Given the description of an element on the screen output the (x, y) to click on. 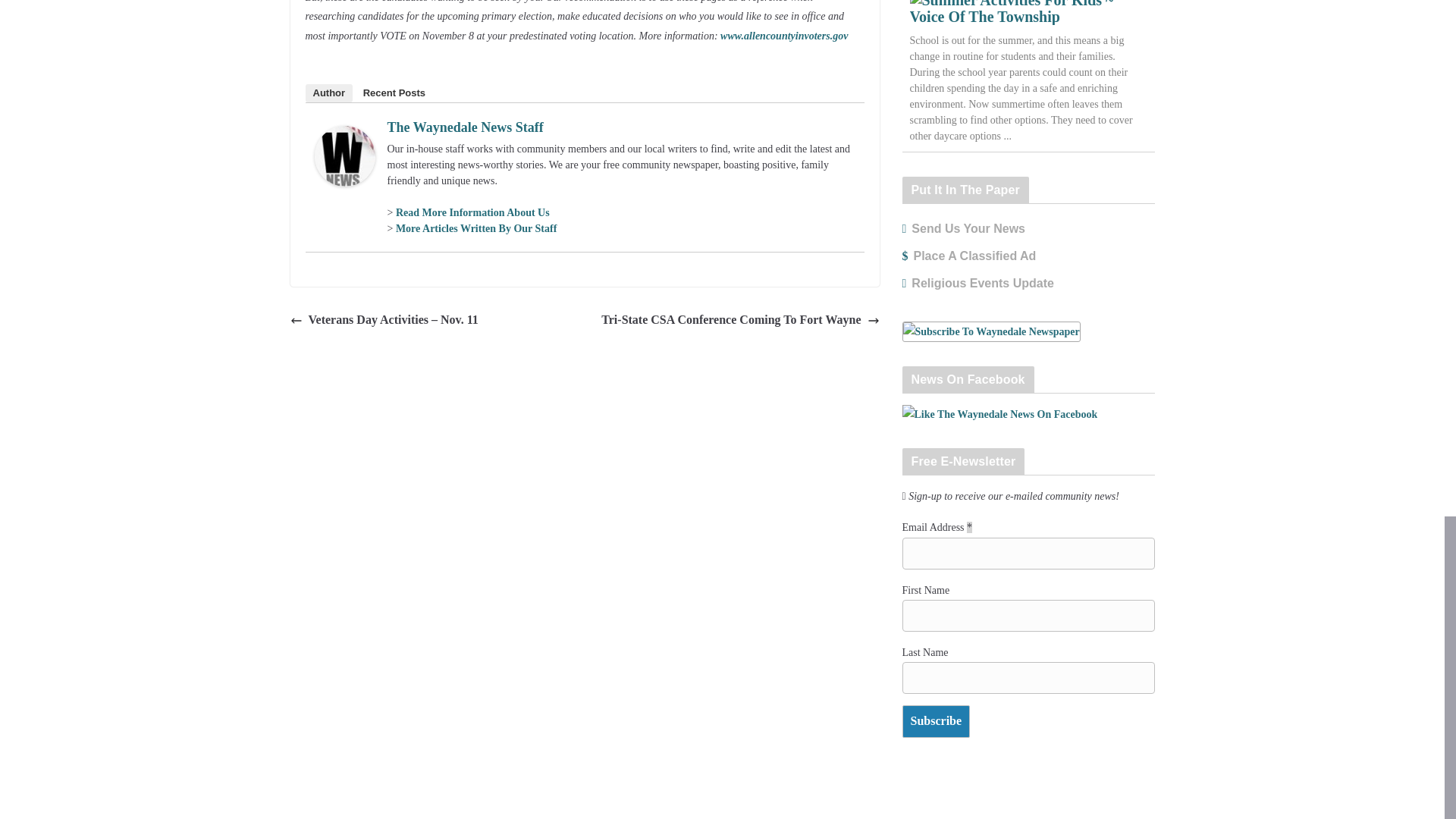
www.allencountyinvoters.gov (783, 35)
Recent Posts (393, 93)
Author (328, 93)
Read More Information About Us (473, 212)
The Waynedale News Staff (465, 127)
Subscribe (936, 721)
More Articles Written By Our Staff (476, 228)
